Given the description of an element on the screen output the (x, y) to click on. 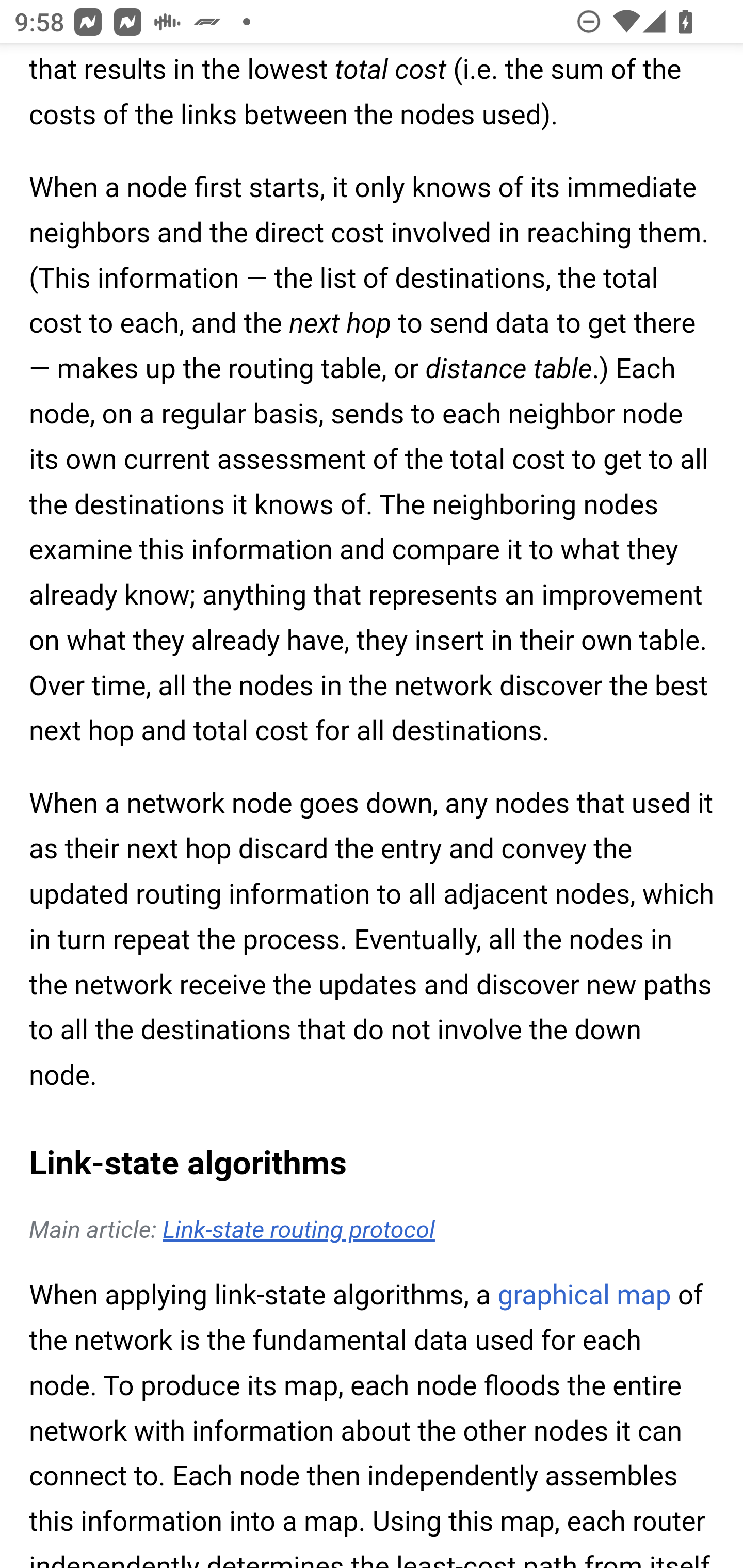
Link-state routing protocol (298, 1230)
graphical map (583, 1296)
